Given the description of an element on the screen output the (x, y) to click on. 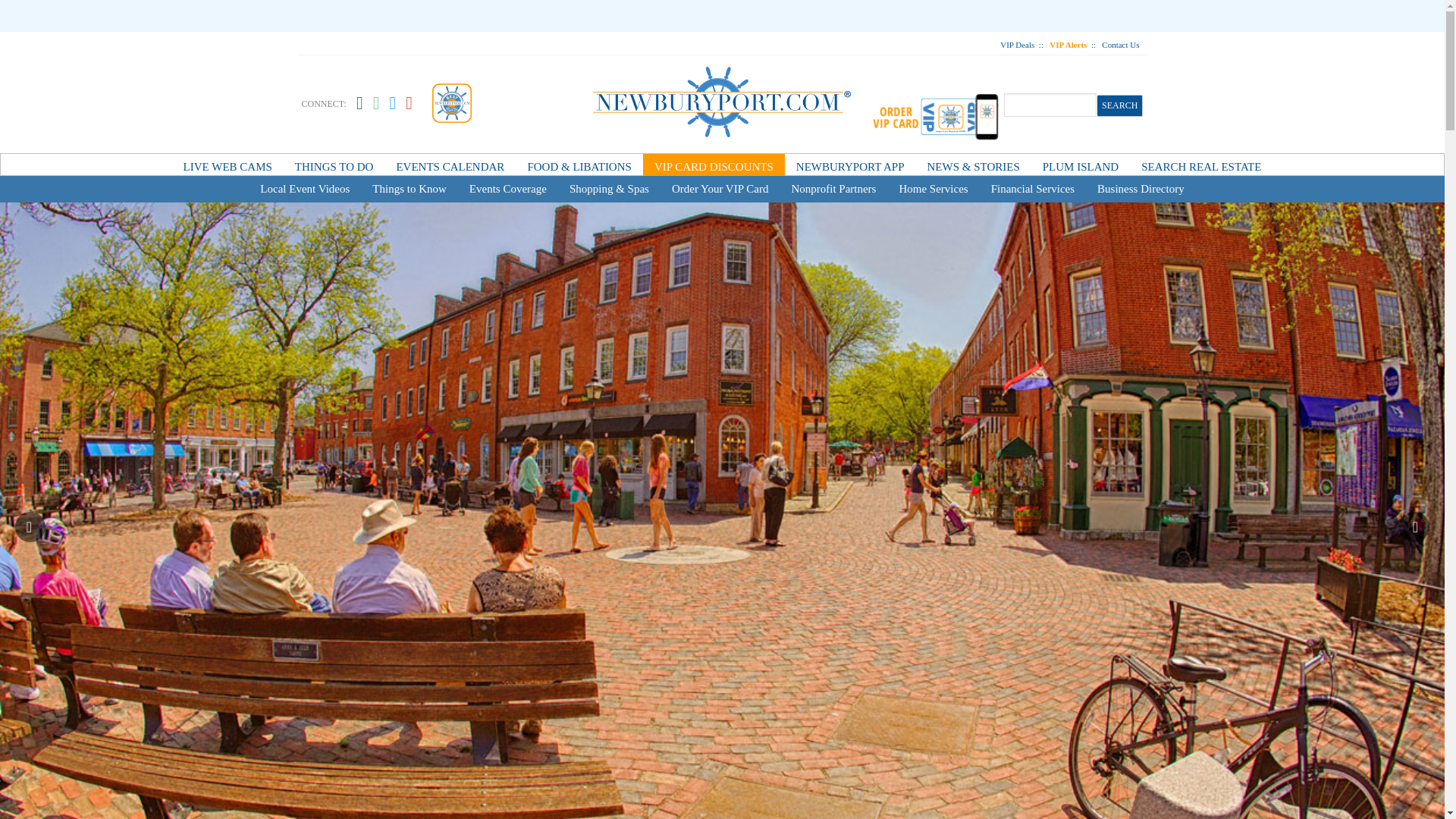
Home Services (932, 189)
Nonprofit Partners (832, 189)
Search (1119, 105)
Events Coverage (507, 189)
Search (1119, 105)
Things to Know (409, 189)
Financial Services (1032, 189)
LIVE WEB CAMS (227, 166)
THINGS TO DO (334, 166)
VIP Deals (1016, 44)
Local Event Videos (304, 189)
EVENTS CALENDAR (449, 166)
VIP CARD DISCOUNTS (713, 166)
Order Your VIP Card (720, 189)
Business Directory (1140, 189)
